Given the description of an element on the screen output the (x, y) to click on. 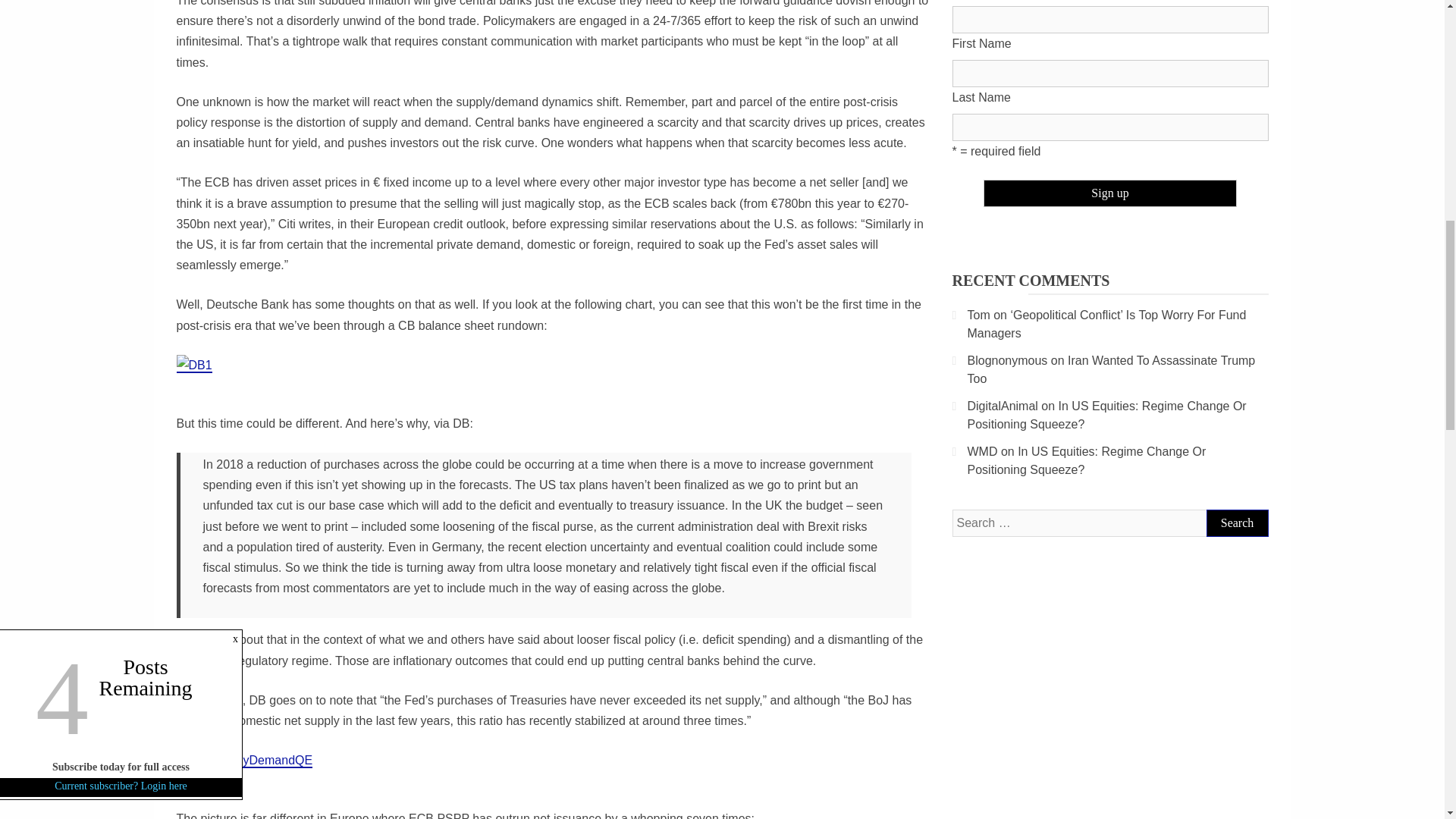
In US Equities: Regime Change Or Positioning Squeeze? (1107, 414)
Search (1236, 523)
Search (1236, 523)
Iran Wanted To Assassinate Trump Too (1111, 368)
Sign up (1110, 193)
Sign up (1110, 193)
